Given the description of an element on the screen output the (x, y) to click on. 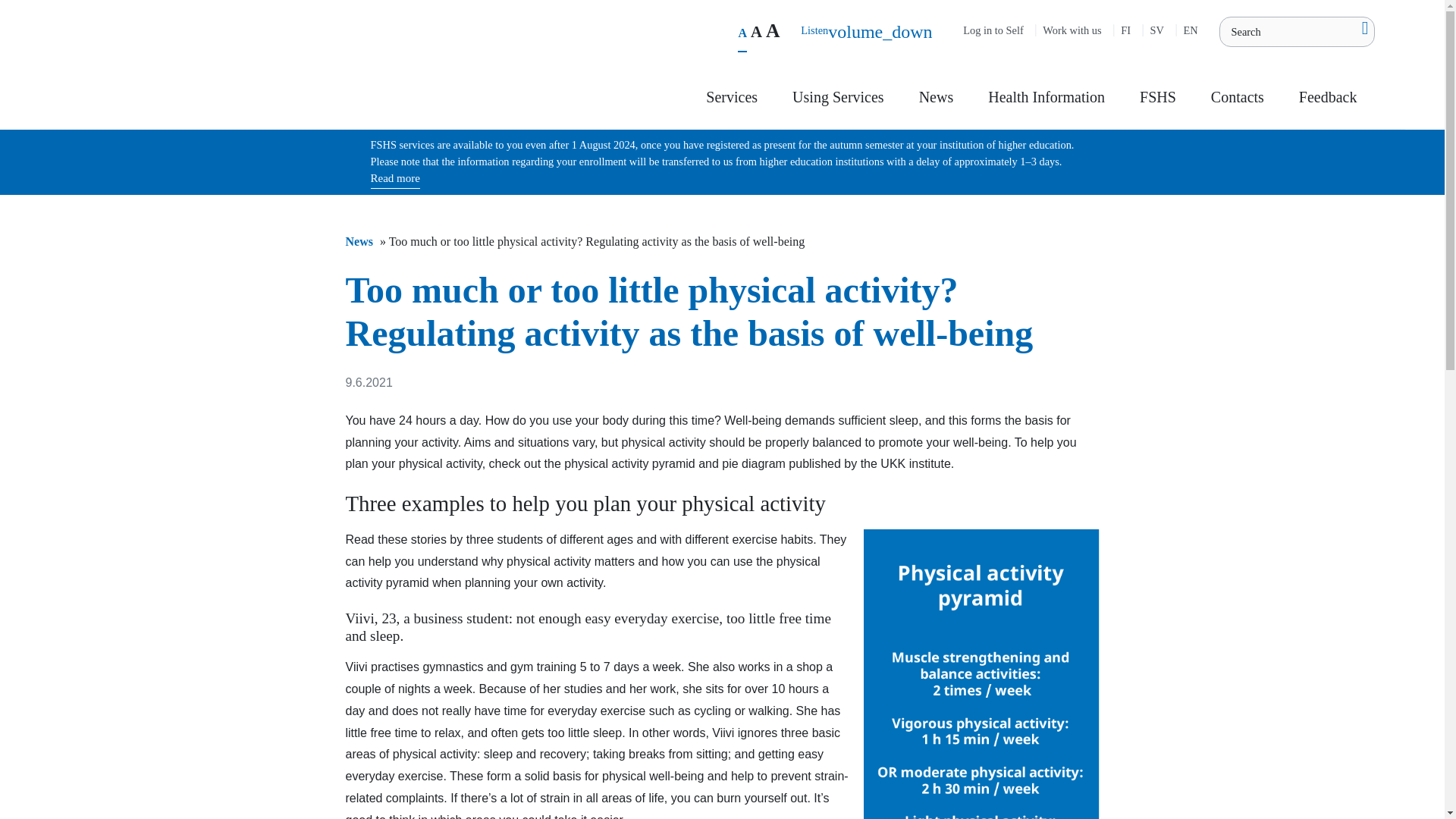
Log in to Self (992, 33)
Work with us (1072, 33)
Listen (814, 31)
SV (1156, 33)
EN (1190, 33)
Work with us (1072, 33)
EN (1190, 33)
Services (731, 106)
SV (1156, 33)
Log in to Self (992, 33)
